Given the description of an element on the screen output the (x, y) to click on. 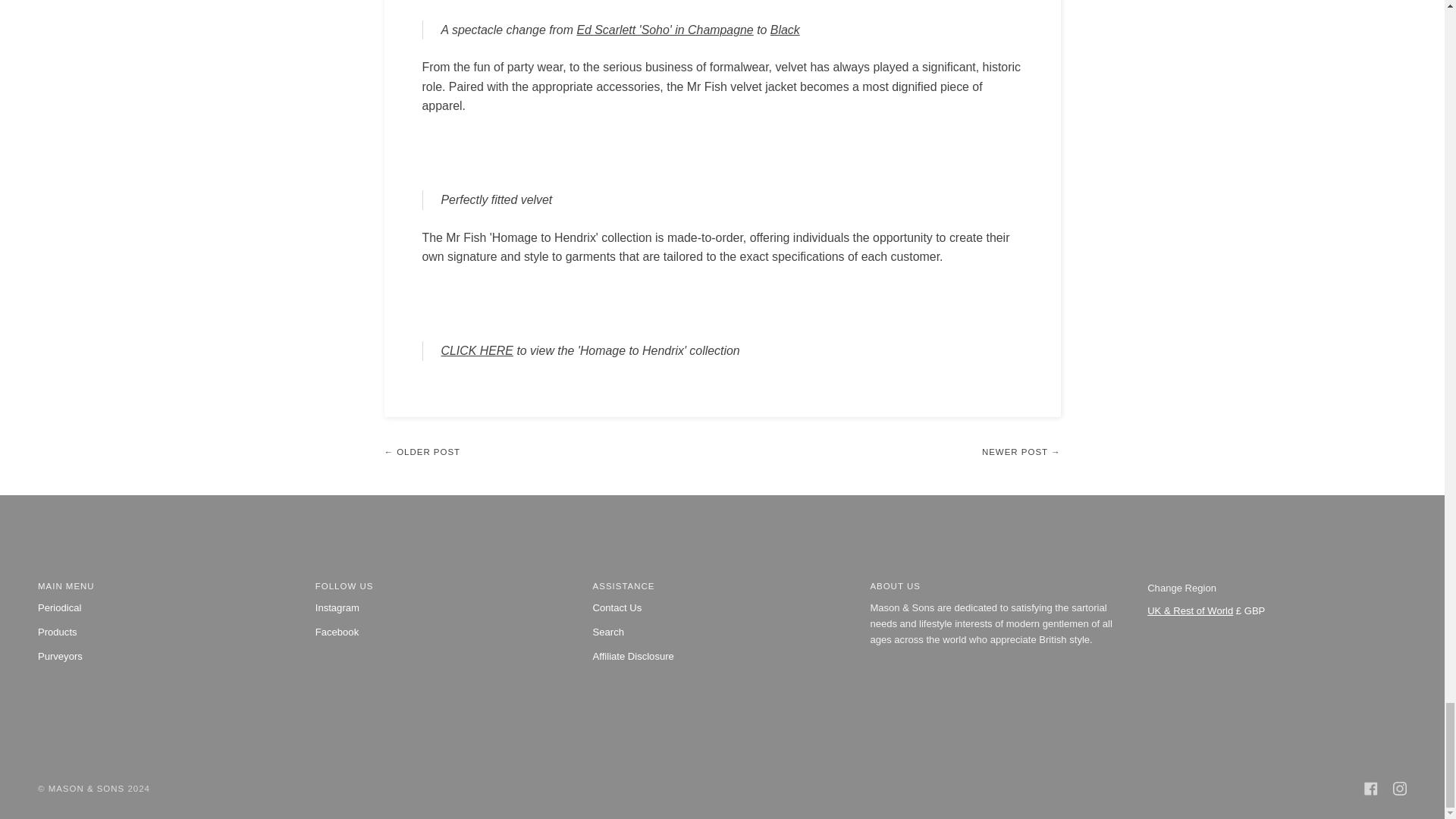
Facebook (1370, 788)
Instagram (1399, 788)
